Given the description of an element on the screen output the (x, y) to click on. 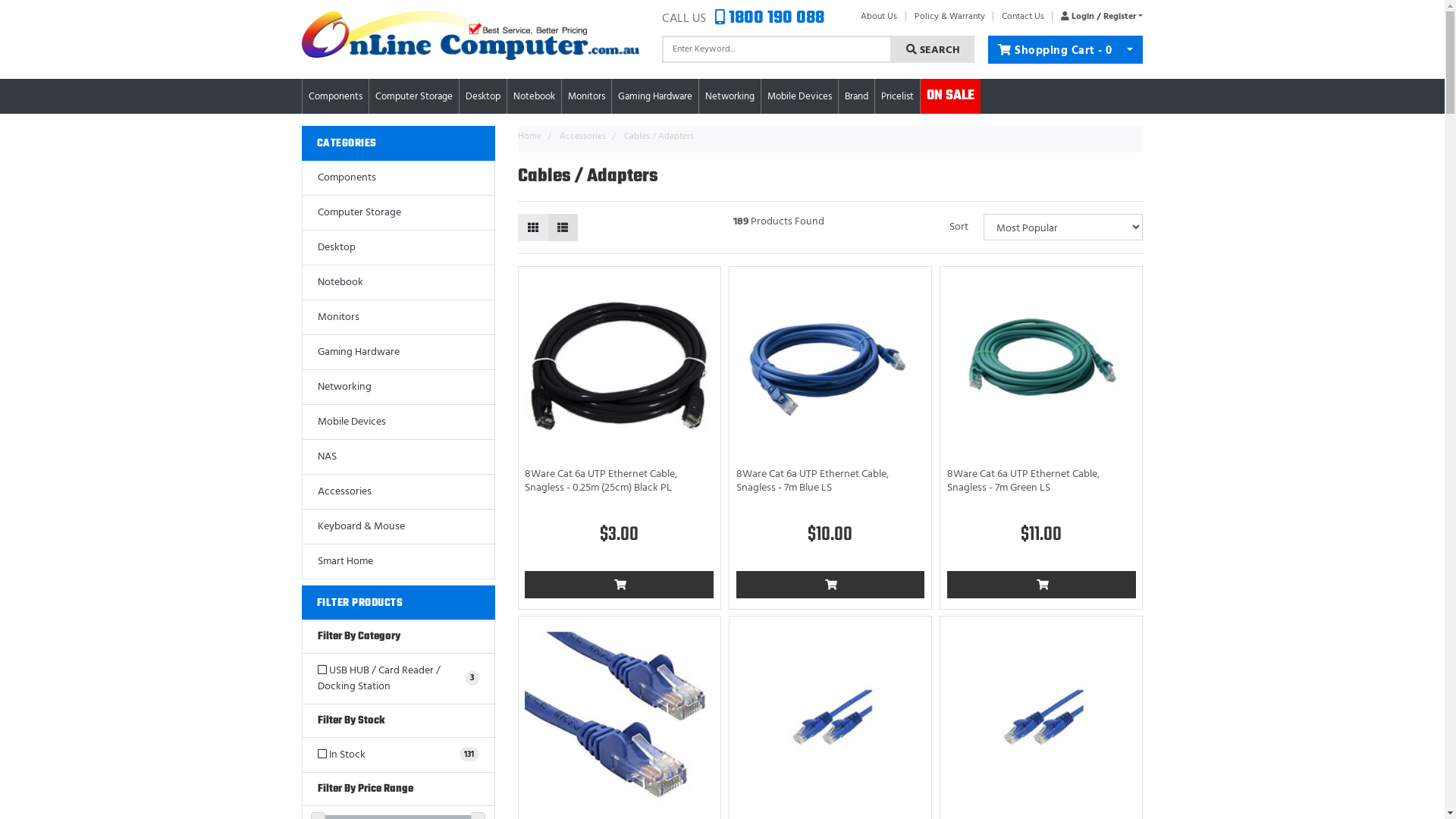
OnLine Centre Pty Ltd Element type: hover (470, 34)
USB HUB / Card Reader / Docking Station
3 Element type: text (397, 678)
Accessories Element type: text (397, 491)
8Ware Cat 6a UTP Ethernet Cable, Snagless - 7m Blue LS Element type: text (812, 480)
8Ware Cat 6a UTP Ethernet Cable, Snagless - 7m Green LS Element type: text (1023, 480)
Monitors Element type: text (397, 317)
Shopping Cart - 0 Element type: text (1052, 49)
Keyboard & Mouse Element type: text (397, 526)
FILTER PRODUCTS Element type: text (398, 602)
Home Element type: text (528, 136)
Monitors Element type: text (585, 96)
Networking Element type: text (729, 96)
Brand Element type: text (856, 96)
Policy & Warranty Element type: text (948, 16)
Accessories Element type: text (582, 136)
Desktop Element type: text (397, 247)
Contact Us Element type: text (1022, 16)
Notebook Element type: text (533, 96)
Components Element type: text (334, 96)
Networking Element type: text (397, 387)
Gaming Hardware Element type: text (654, 96)
NAS Element type: text (397, 456)
In Stock
131 Element type: text (397, 754)
About Us Element type: text (878, 16)
Components Element type: text (397, 177)
Computer Storage Element type: text (397, 212)
Toggle Dropdown Element type: text (1129, 49)
Mobile Devices Element type: text (799, 96)
ON SALE Element type: text (950, 95)
Mobile Devices Element type: text (397, 421)
Desktop Element type: text (482, 96)
Computer Storage Element type: text (413, 96)
Smart Home Element type: text (397, 561)
Cables / Adapters Element type: text (658, 136)
Notebook Element type: text (397, 282)
Pricelist Element type: text (897, 96)
Login / Register Element type: text (1097, 16)
Gaming Hardware Element type: text (397, 352)
SEARCH Element type: text (932, 48)
